Given the description of an element on the screen output the (x, y) to click on. 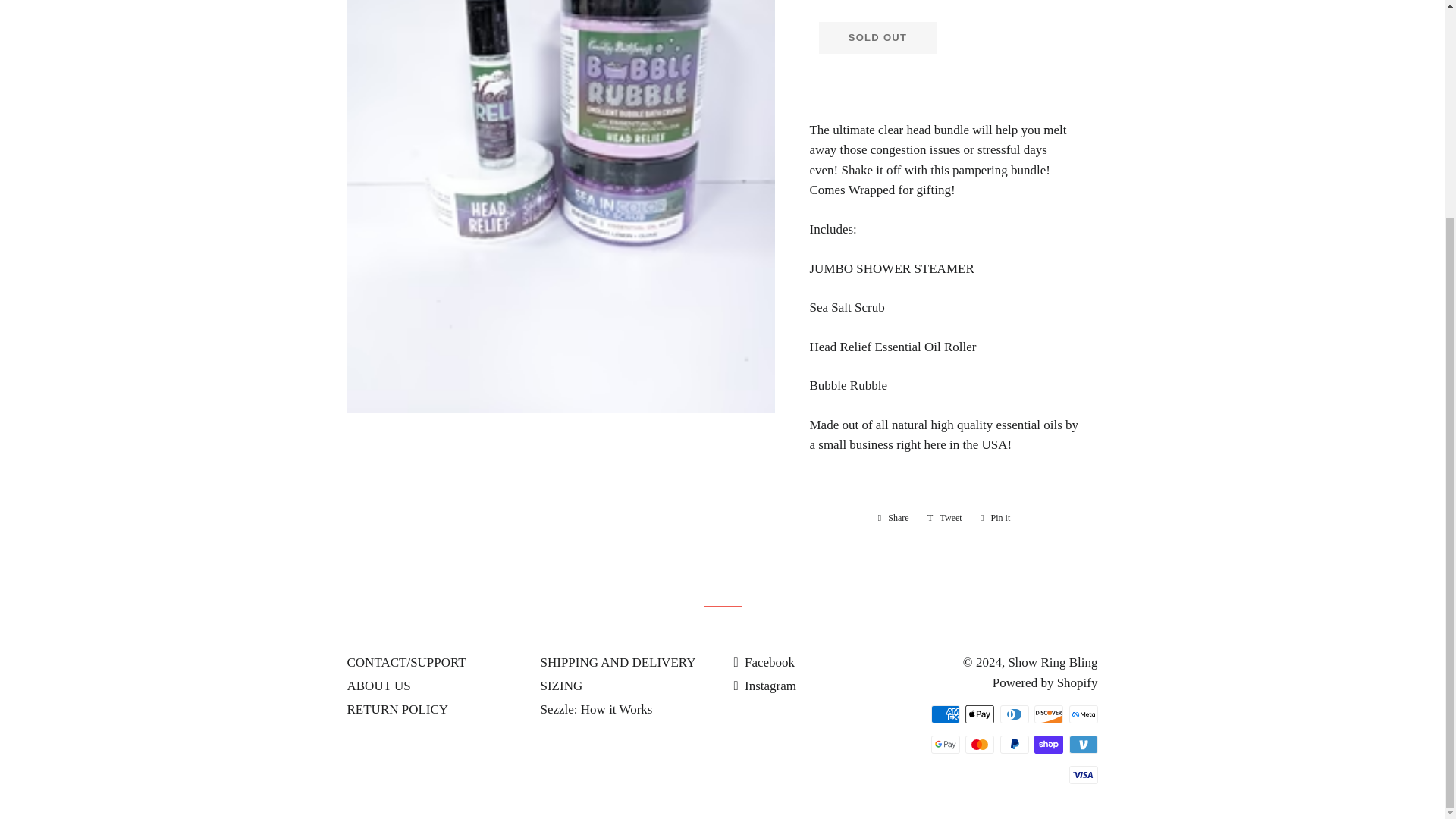
Google Pay (945, 744)
Show Ring Bling  on Instagram (764, 685)
Diners Club (1012, 714)
Venmo (1082, 744)
Show Ring Bling  on Facebook (763, 662)
Mastercard (979, 744)
American Express (945, 714)
Apple Pay (979, 714)
Tweet on Twitter (944, 517)
Discover (1047, 714)
